Given the description of an element on the screen output the (x, y) to click on. 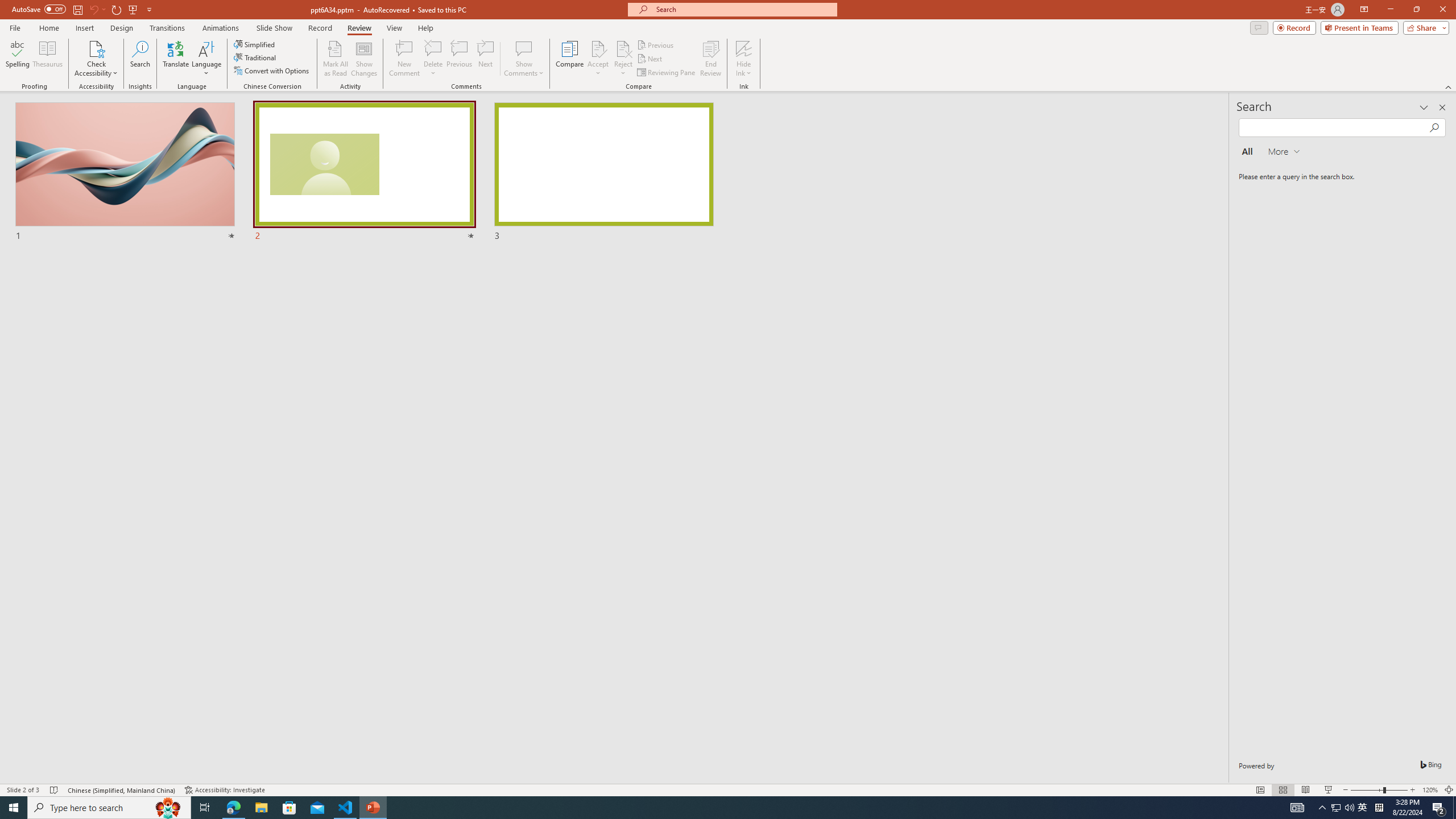
End Review (710, 58)
Reject (622, 58)
Accept (598, 58)
Reject Change (622, 48)
